Given the description of an element on the screen output the (x, y) to click on. 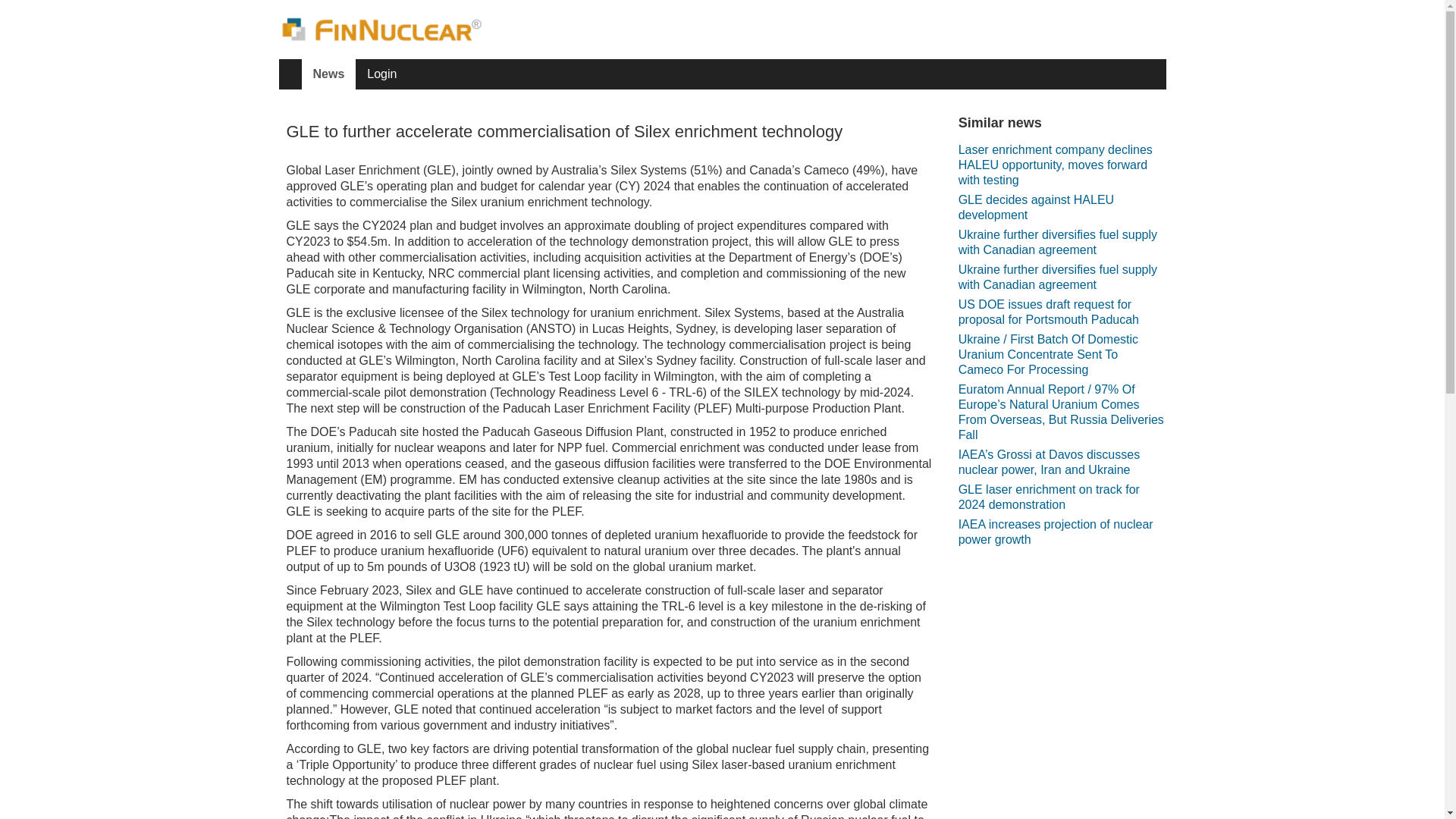
GLE decides against HALEU development (1062, 207)
GLE laser enrichment on track for 2024 demonstration (1062, 497)
News (328, 73)
Login (381, 73)
IAEA increases projection of nuclear power growth (1062, 532)
